Given the description of an element on the screen output the (x, y) to click on. 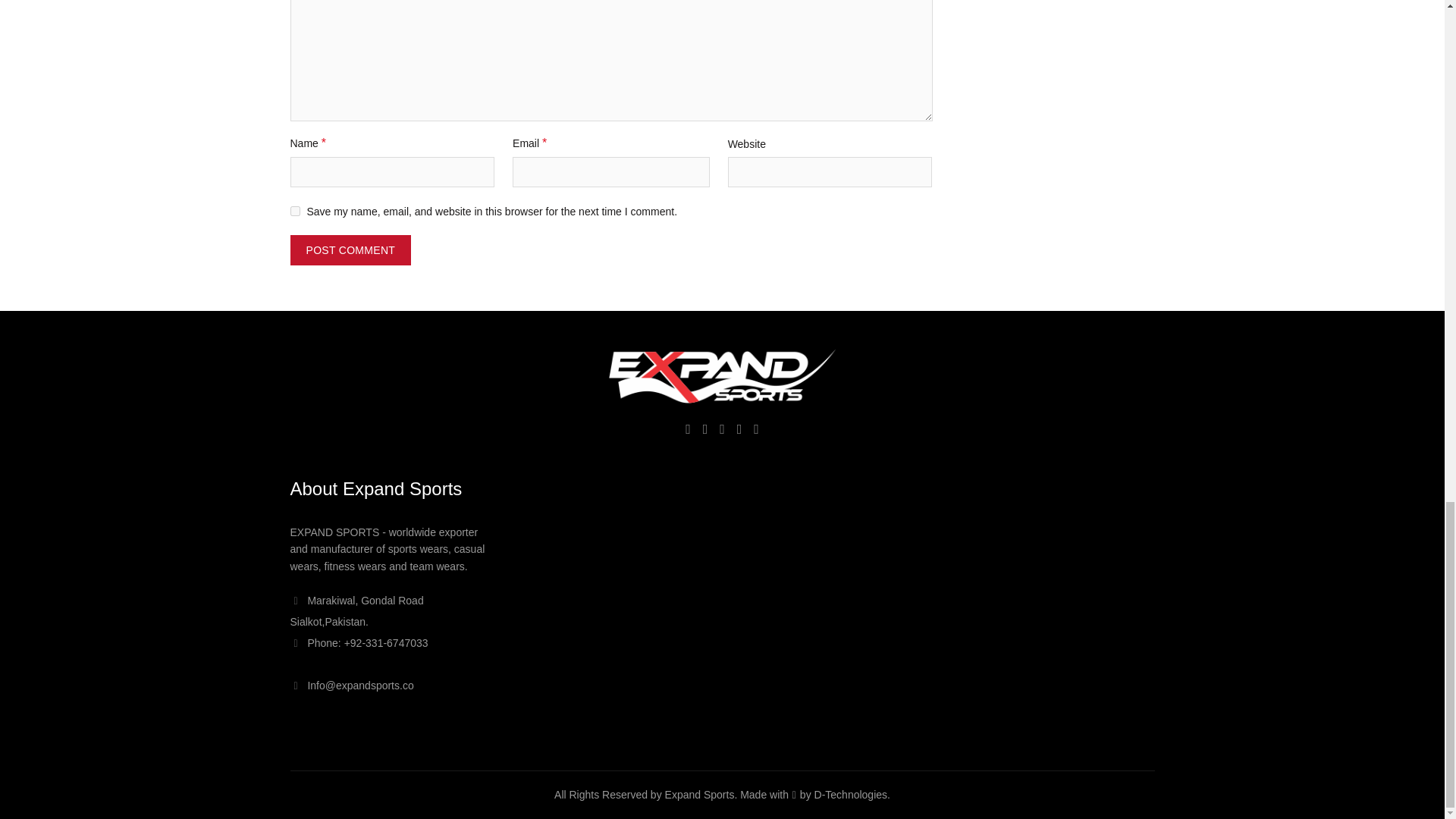
Post Comment (349, 250)
yes (294, 211)
Expand Sports (721, 375)
